Given the description of an element on the screen output the (x, y) to click on. 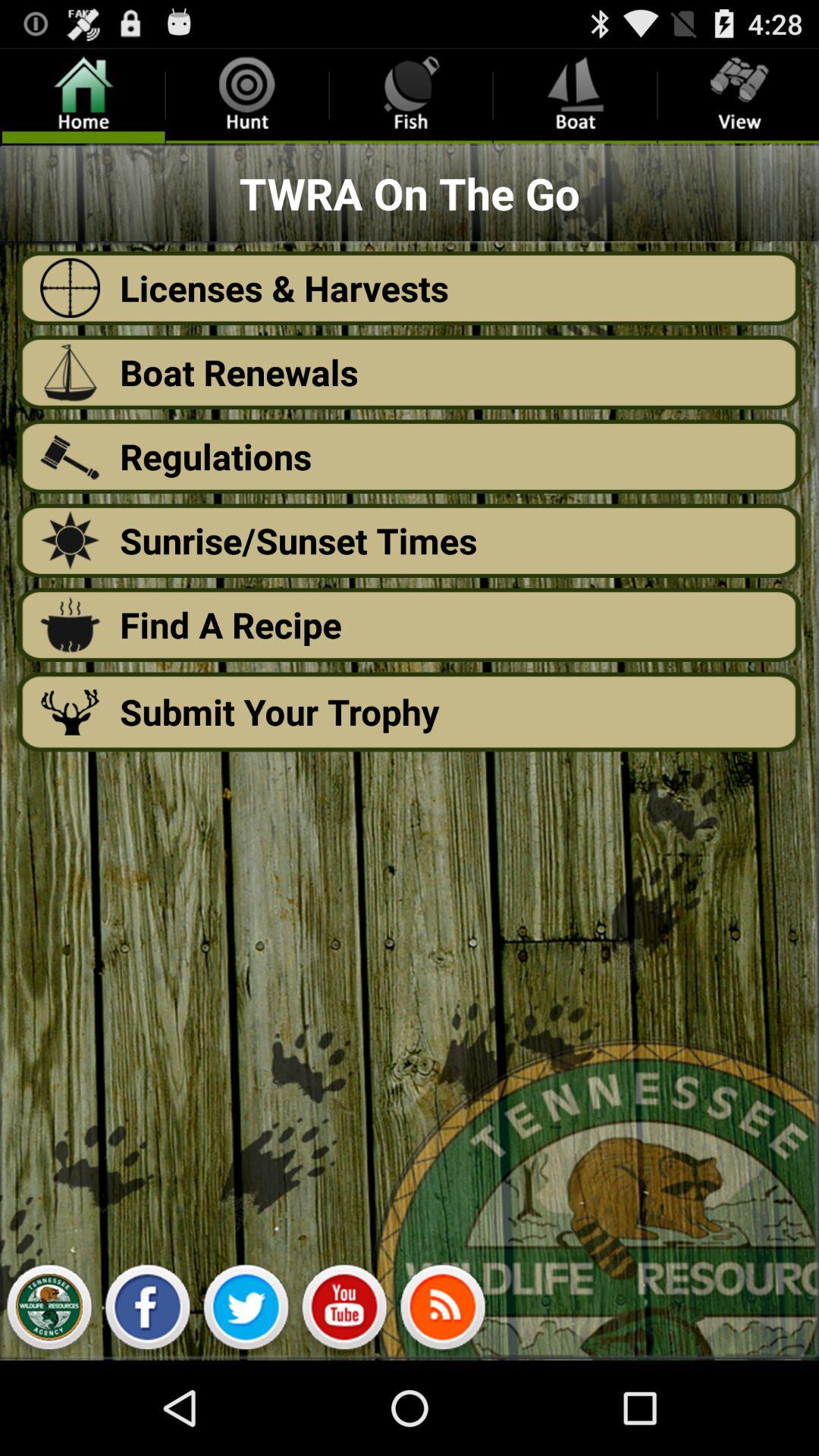
go to facebook (147, 1311)
